Given the description of an element on the screen output the (x, y) to click on. 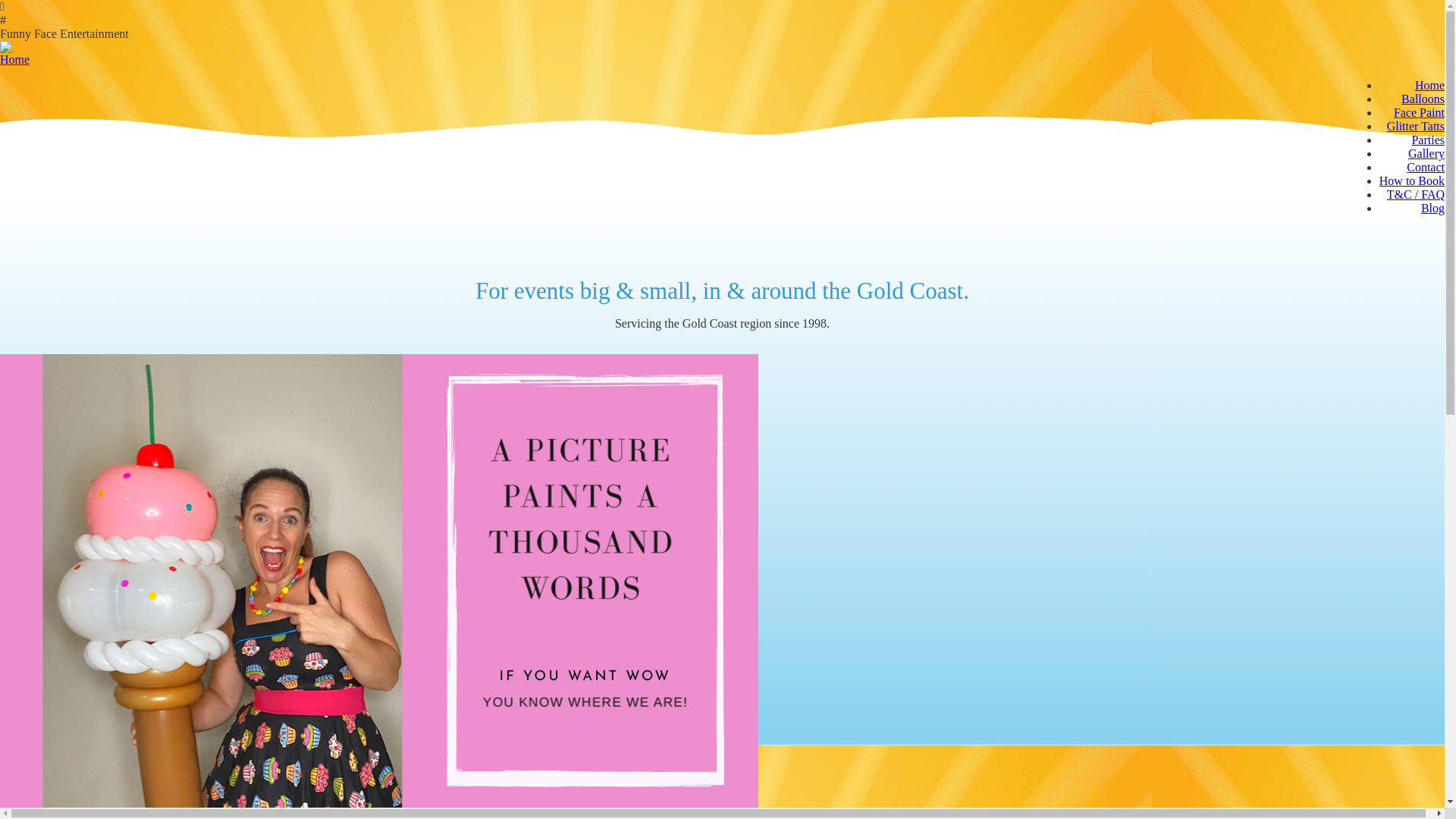
Contact Element type: text (1425, 166)
How to Book Element type: text (1411, 180)
# Element type: text (722, 20)
Face Paint Element type: text (1418, 112)
T&C / FAQ Element type: text (1415, 194)
Gallery Element type: text (1426, 153)
Home Element type: text (1429, 84)
Blog Element type: text (1432, 207)
Funny Face Entertainment Element type: text (722, 33)
Parties Element type: text (1427, 139)
Glitter Tatts Element type: text (1415, 125)
Balloons Element type: text (1422, 98)
